Given the description of an element on the screen output the (x, y) to click on. 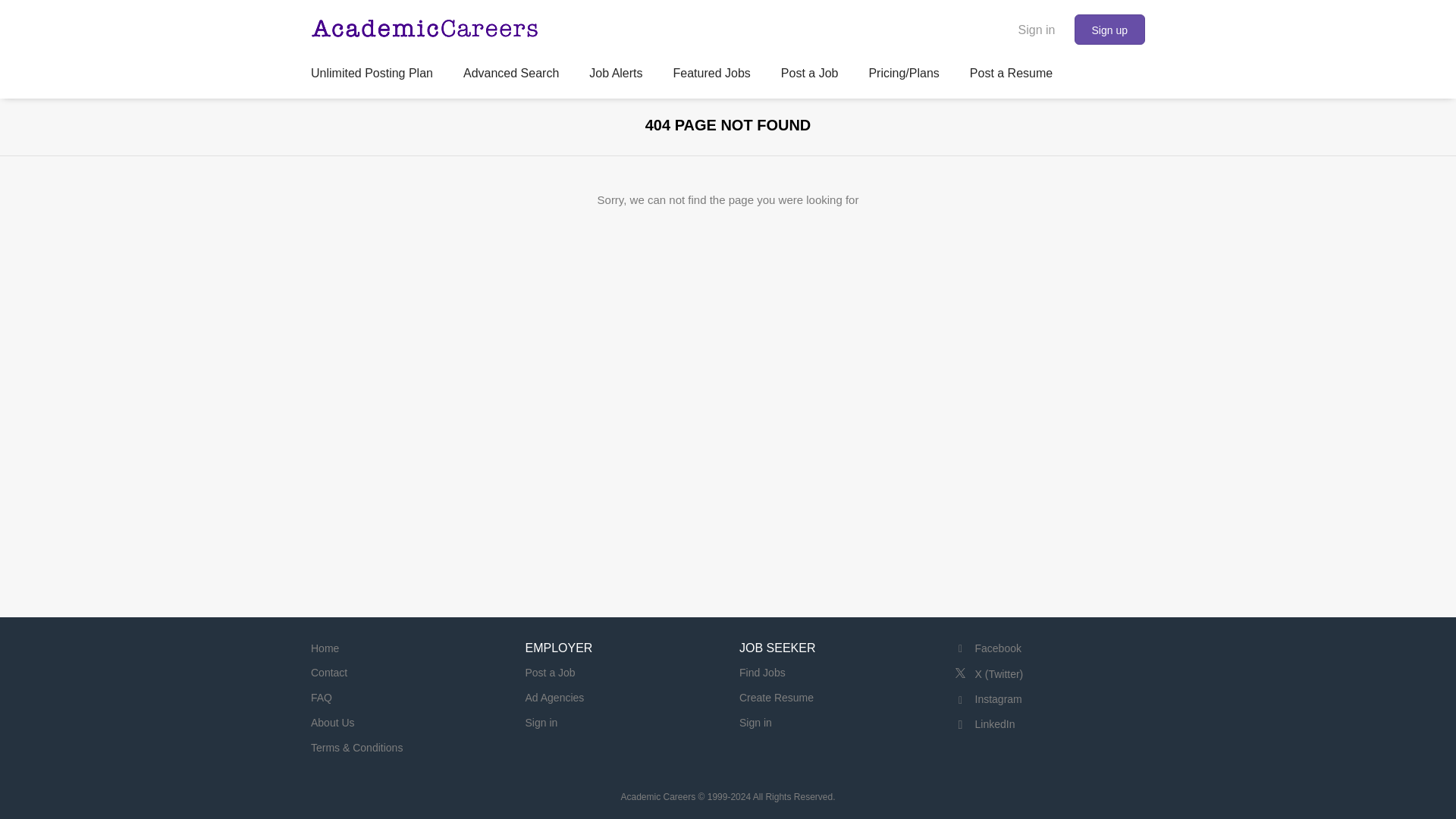
Contact (329, 672)
Ad Agencies (553, 697)
Facebook (987, 648)
Sign in (540, 722)
FAQ (321, 697)
Post a Resume (1010, 75)
Create Resume (776, 697)
Academic Careers (657, 796)
Instagram (987, 698)
Post a Job (549, 672)
